Given the description of an element on the screen output the (x, y) to click on. 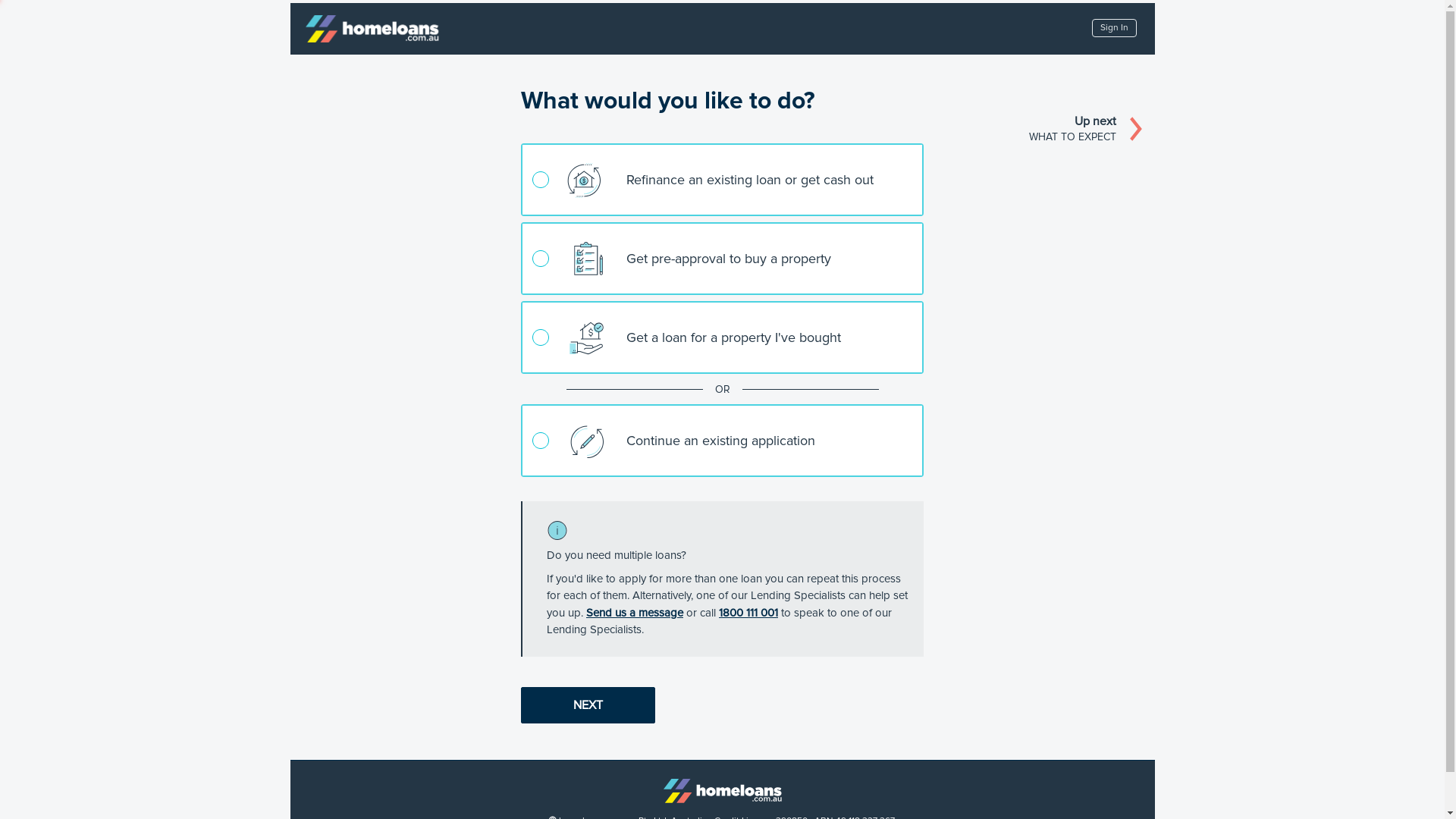
Up next

WHAT TO EXPECT Element type: text (1088, 128)
Continue an existing application Element type: text (721, 440)
Sign In Element type: text (1114, 27)
Refinance an existing loan or get cash out Element type: text (721, 179)
NEXT Element type: text (587, 705)
Get pre-approval to buy a property Element type: text (721, 258)
1800 111 001 Element type: text (748, 611)
Get a loan for a property I've bought Element type: text (721, 337)
Send us a message Element type: text (634, 611)
homeloans.com.au Element type: hover (721, 790)
